Given the description of an element on the screen output the (x, y) to click on. 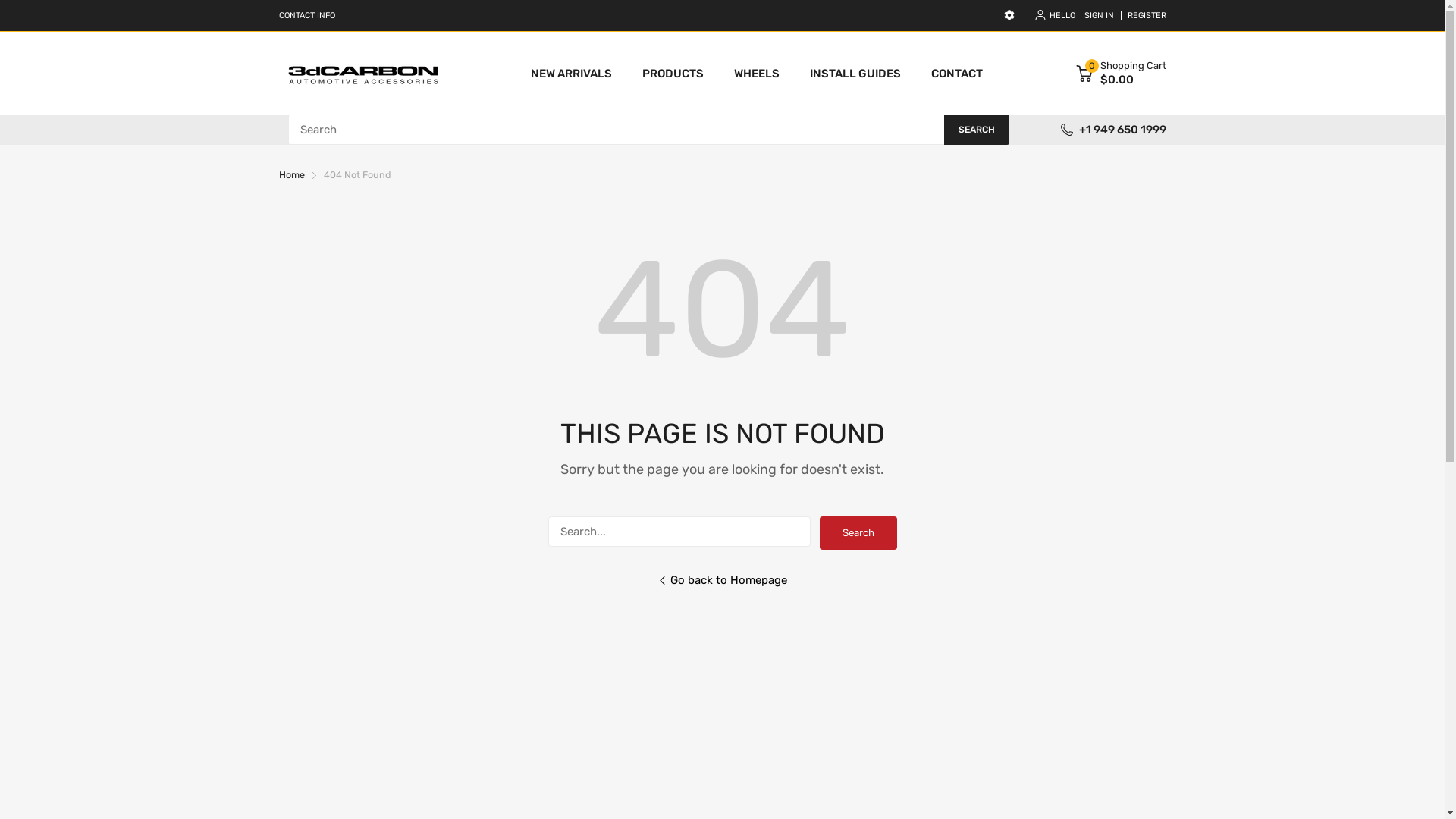
WHEELS Element type: text (756, 73)
PRODUCTS Element type: text (672, 73)
CONTACT Element type: text (956, 73)
REGISTER Element type: text (1143, 15)
Home Element type: text (291, 174)
SIGN IN Element type: text (1098, 15)
INSTALL GUIDES Element type: text (854, 73)
Search Element type: text (857, 532)
SEARCH Element type: text (975, 129)
Go back to Homepage Element type: text (721, 591)
CONTACT INFO Element type: text (307, 15)
404 Not Found Element type: text (356, 174)
NEW ARRIVALS Element type: text (570, 73)
HELLO Element type: text (1054, 15)
+1 949 650 1999 Element type: text (1121, 130)
0 Element type: text (1083, 73)
